Given the description of an element on the screen output the (x, y) to click on. 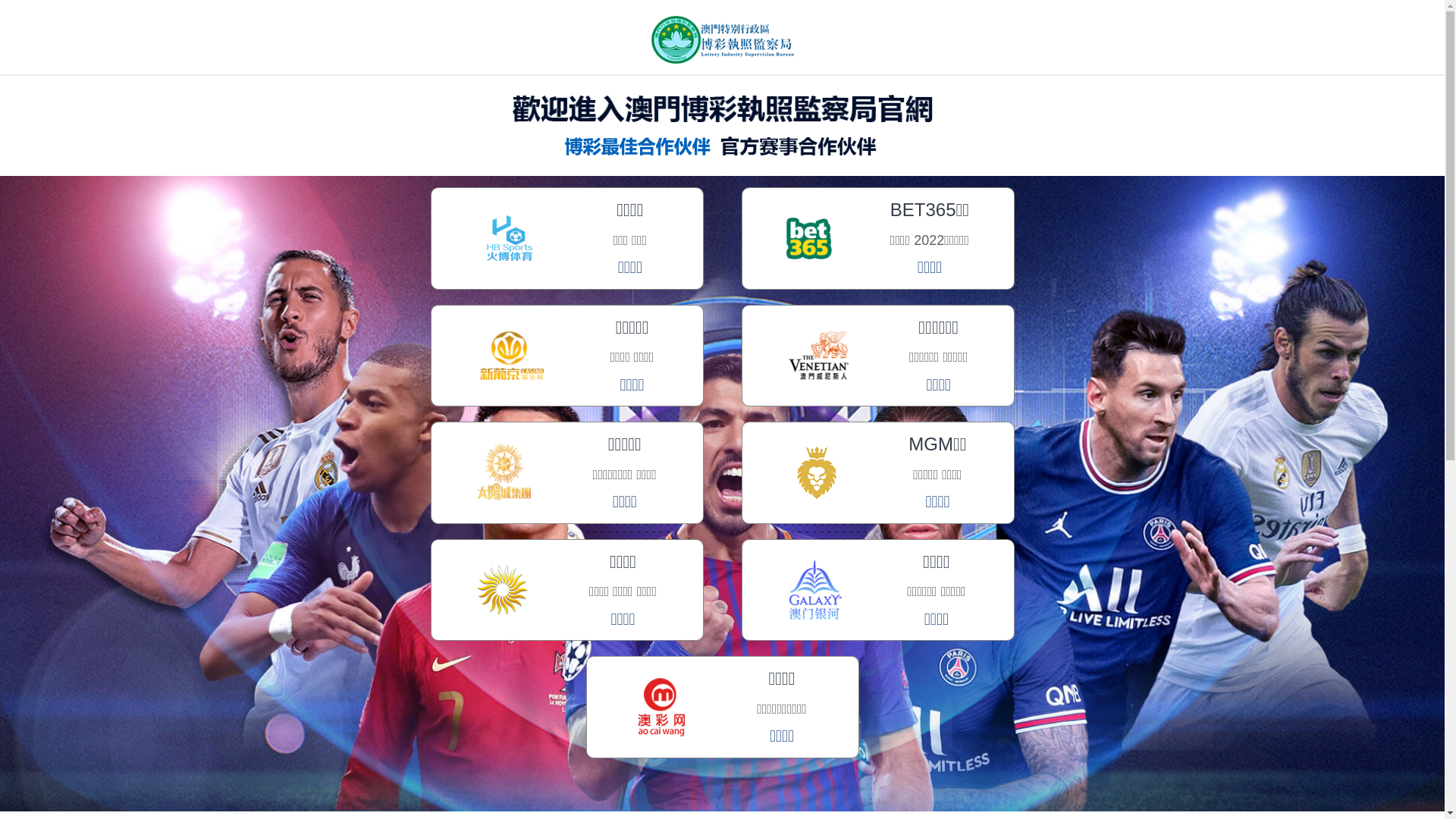
Go Element type: text (1163, 112)
